Given the description of an element on the screen output the (x, y) to click on. 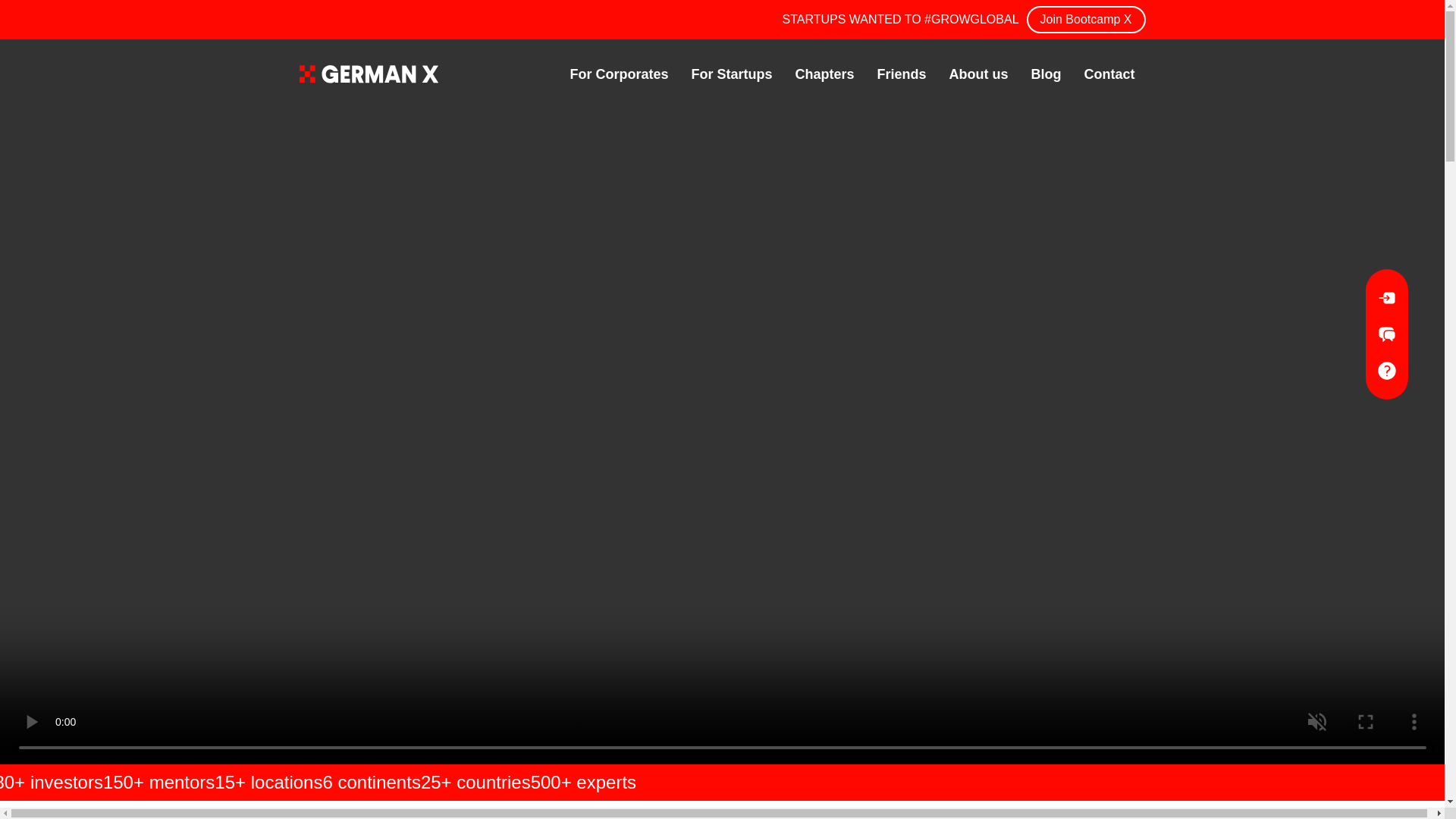
Chapters (823, 73)
Contact (1109, 73)
For Corporates (618, 73)
About us (979, 73)
For Startups (730, 73)
Blog (1045, 73)
Friends (901, 73)
Join Bootcamp X (1085, 19)
GERMAN X (368, 74)
